Given the description of an element on the screen output the (x, y) to click on. 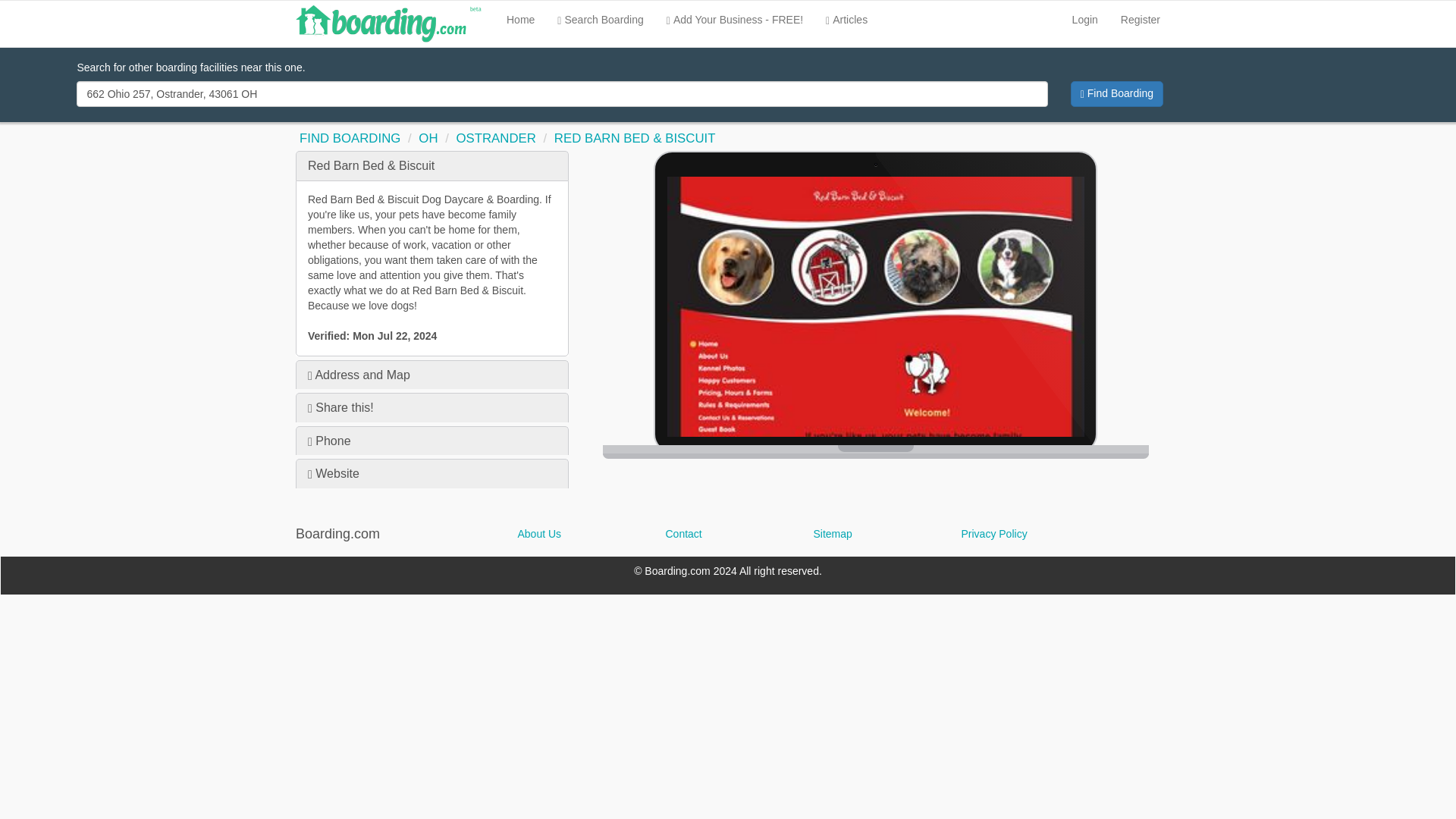
Articles (846, 19)
Find Boarding (1116, 94)
OH (428, 138)
Search Boarding (599, 19)
FIND BOARDING (349, 138)
662 Ohio 257, Ostrander, 43061 OH (561, 94)
Sitemap (874, 534)
662 Ohio 257, Ostrander, 43061 OH (561, 94)
Privacy Policy (1060, 534)
Contact (727, 534)
